Given the description of an element on the screen output the (x, y) to click on. 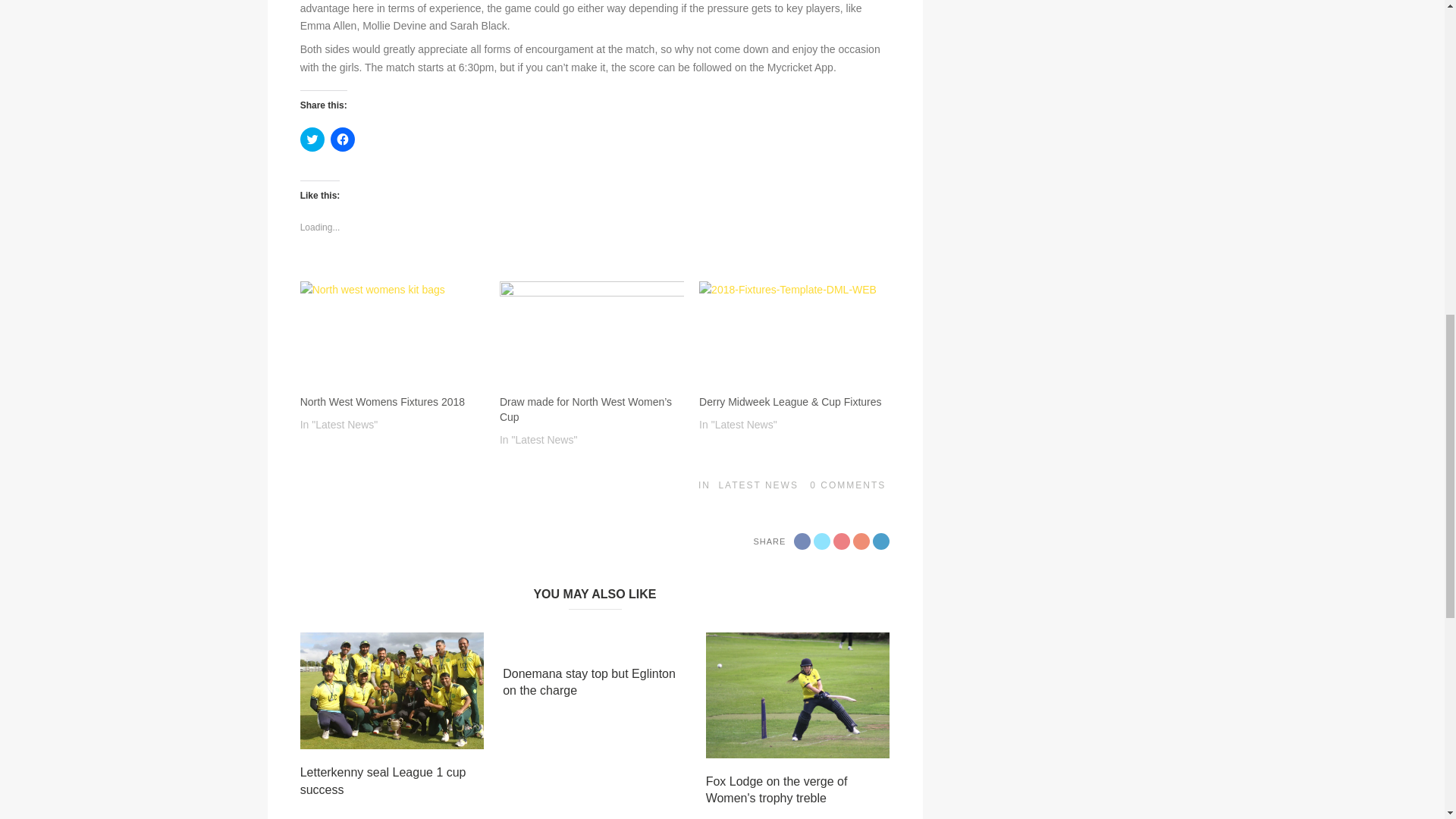
Click to share on Twitter (311, 139)
LinkedIn (880, 332)
Pinterest (861, 332)
Facebook (801, 332)
Twitter (821, 332)
Click to share on Facebook (342, 139)
